Given the description of an element on the screen output the (x, y) to click on. 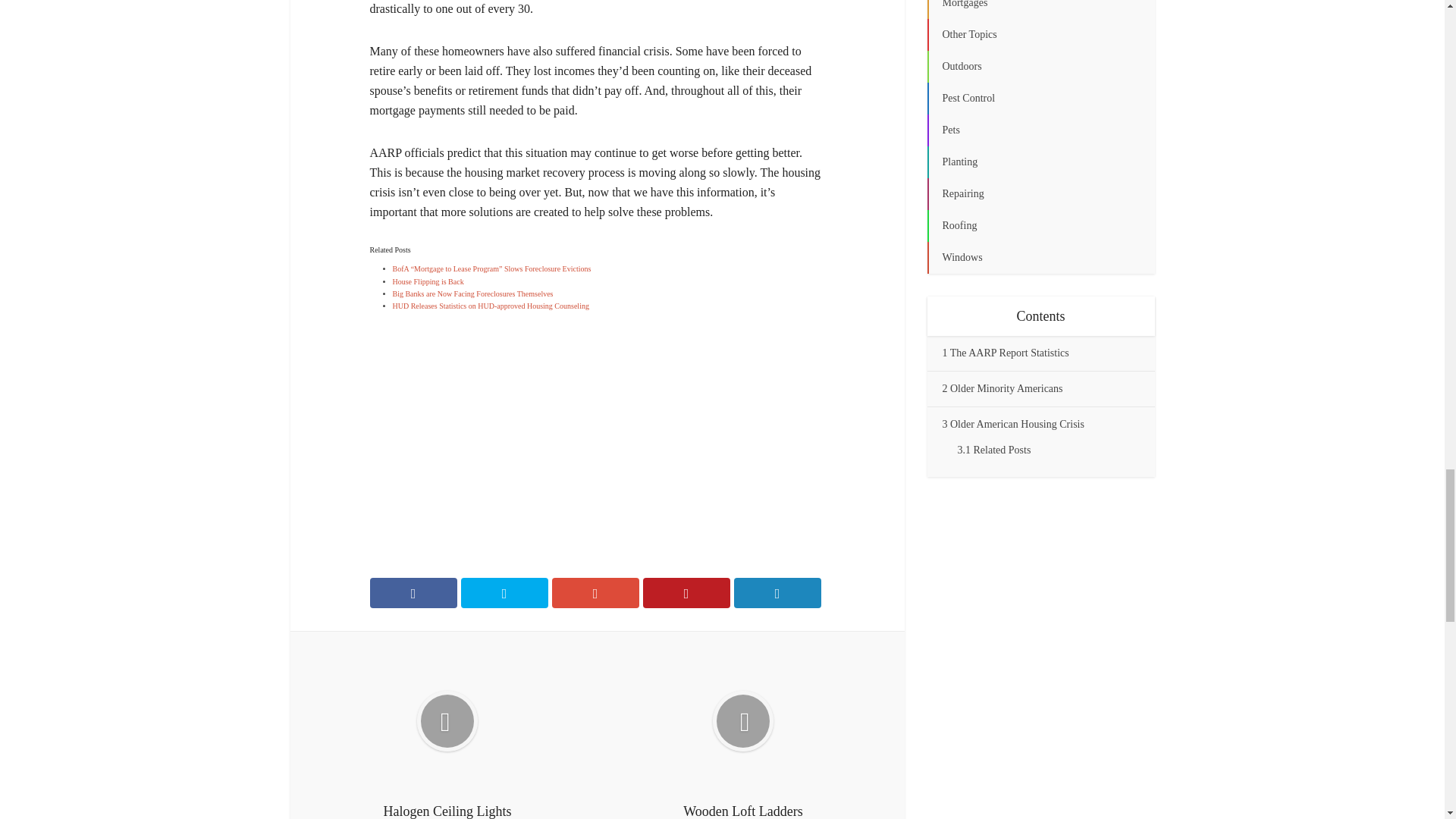
Halogen Ceiling Lights (446, 733)
Big Banks are Now Facing Foreclosures Themselves (473, 293)
HUD Releases Statistics on HUD-approved Housing Counseling (491, 306)
HUD Releases Statistics on HUD-approved Housing Counseling (491, 306)
House Flipping is Back (428, 281)
Big Banks are Now Facing Foreclosures Themselves (473, 293)
House Flipping is Back (428, 281)
Wooden Loft Ladders (742, 733)
